Given the description of an element on the screen output the (x, y) to click on. 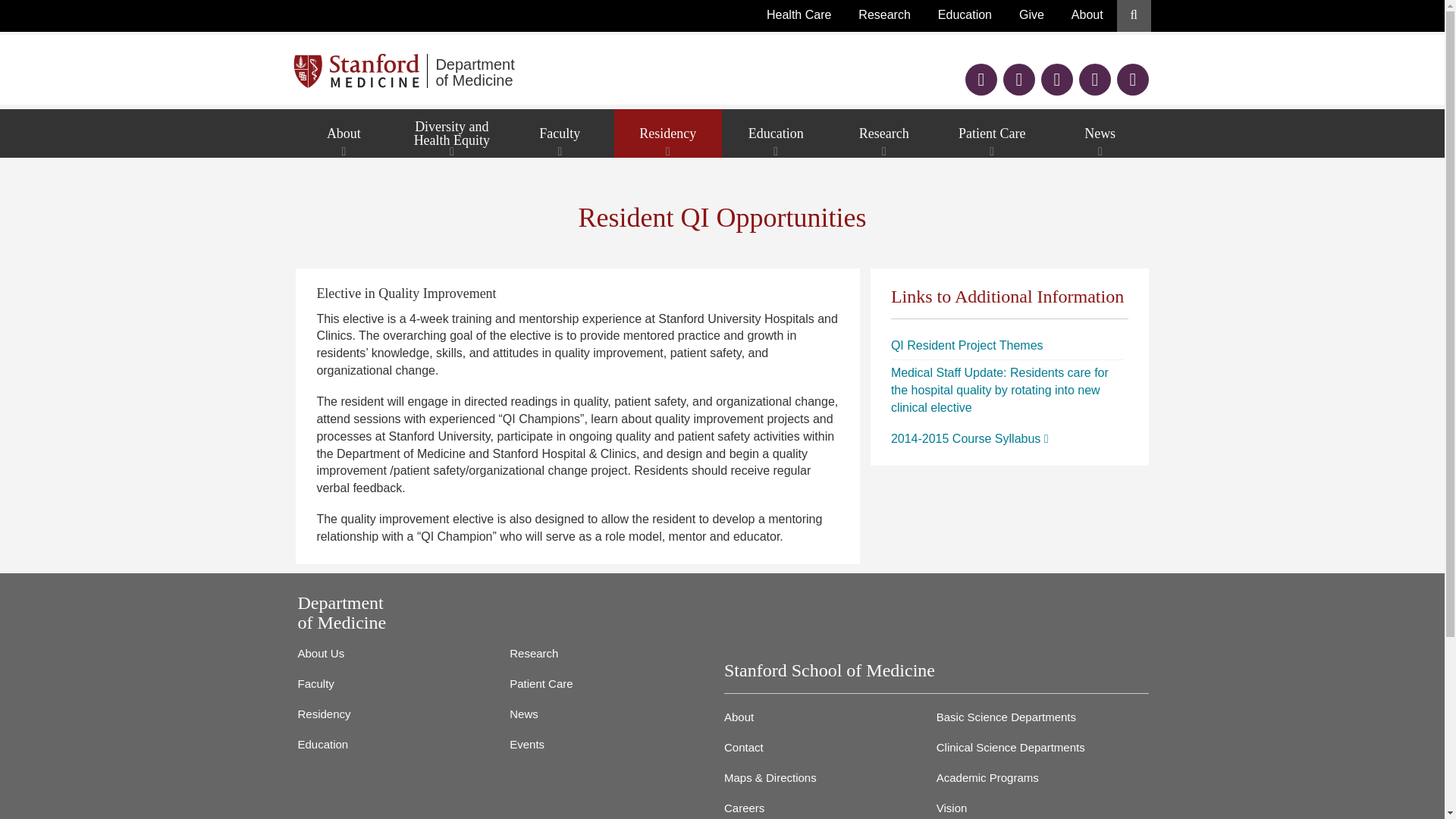
See us on flickr (1094, 81)
See us on youtube (616, 71)
See us on instagram (1132, 81)
Stanford Medicine (1057, 81)
Skip to Content (361, 70)
See us on twitter (981, 81)
